Given the description of an element on the screen output the (x, y) to click on. 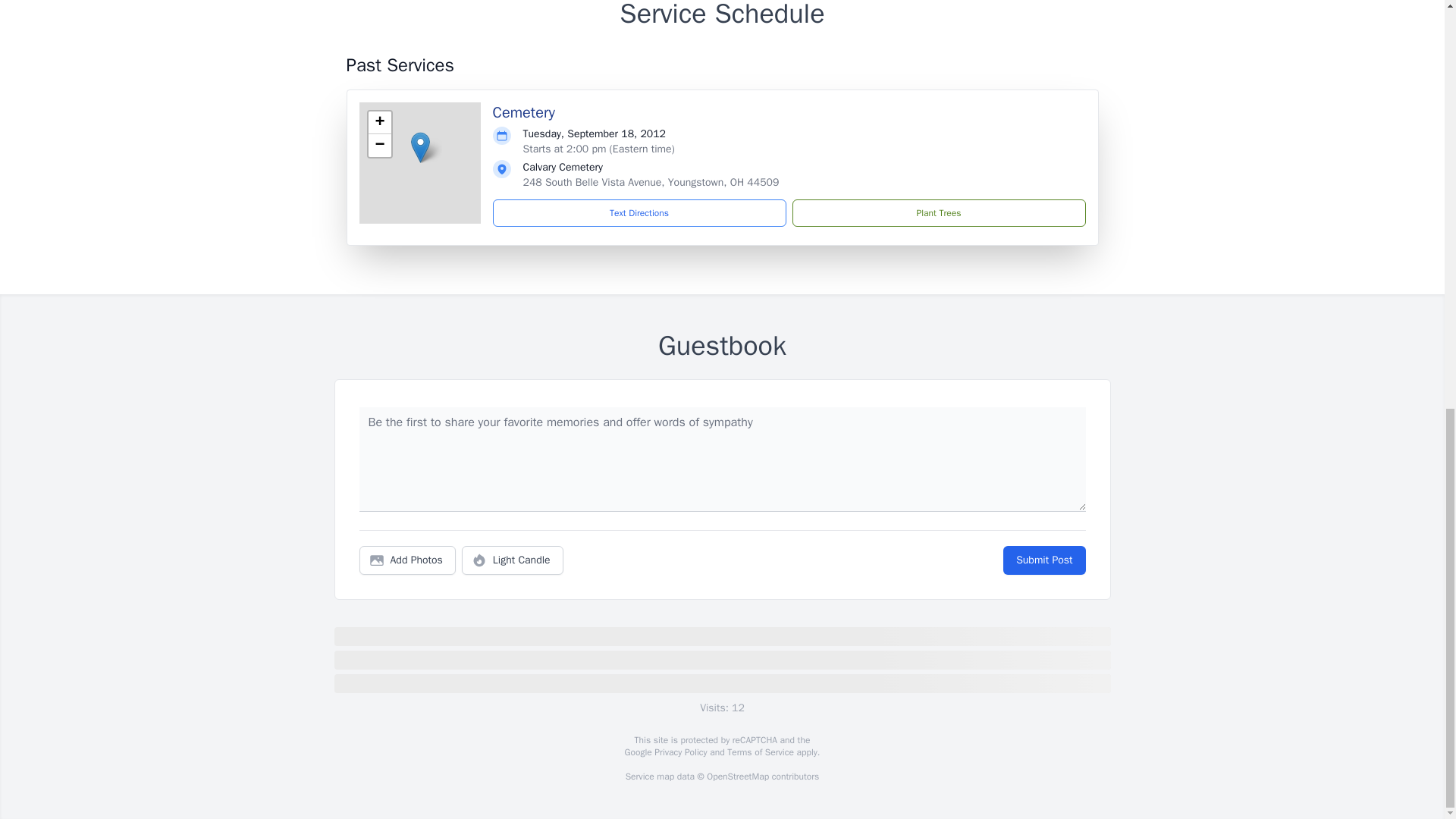
248 South Belle Vista Avenue, Youngstown, OH 44509 (650, 182)
Plant Trees (938, 212)
Terms of Service (759, 752)
Add Photos (407, 560)
Zoom in (379, 122)
Text Directions (639, 212)
Light Candle (512, 560)
Privacy Policy (679, 752)
Submit Post (1043, 560)
OpenStreetMap (737, 776)
Zoom out (379, 145)
